Given the description of an element on the screen output the (x, y) to click on. 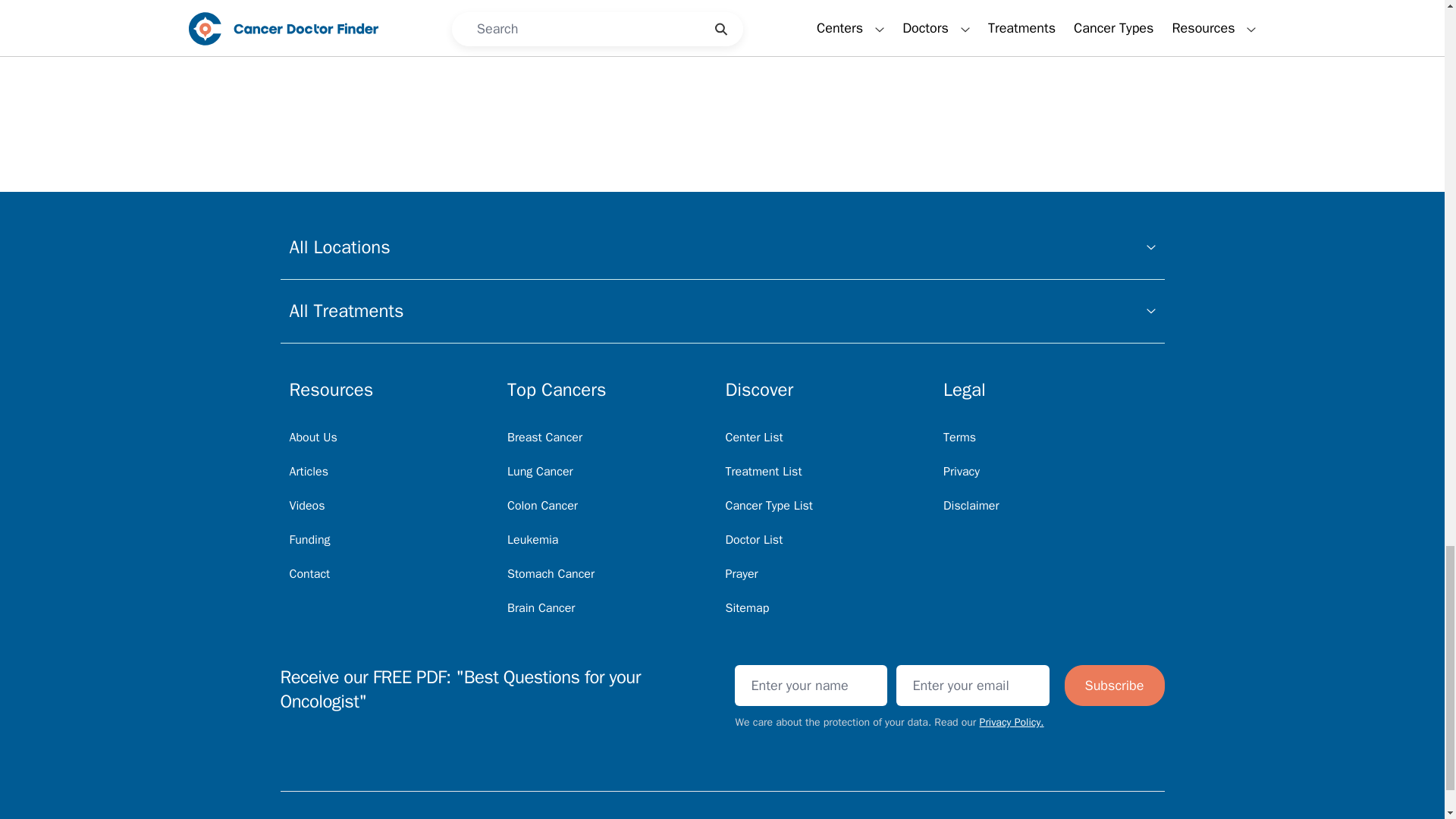
Terms (959, 437)
Lung Cancer (539, 471)
About Us (313, 437)
Privacy Policy. (1011, 721)
Center List (754, 437)
Prayer (741, 573)
Funding (309, 539)
Colon Cancer (542, 505)
Contact (309, 573)
Articles (309, 471)
